Given the description of an element on the screen output the (x, y) to click on. 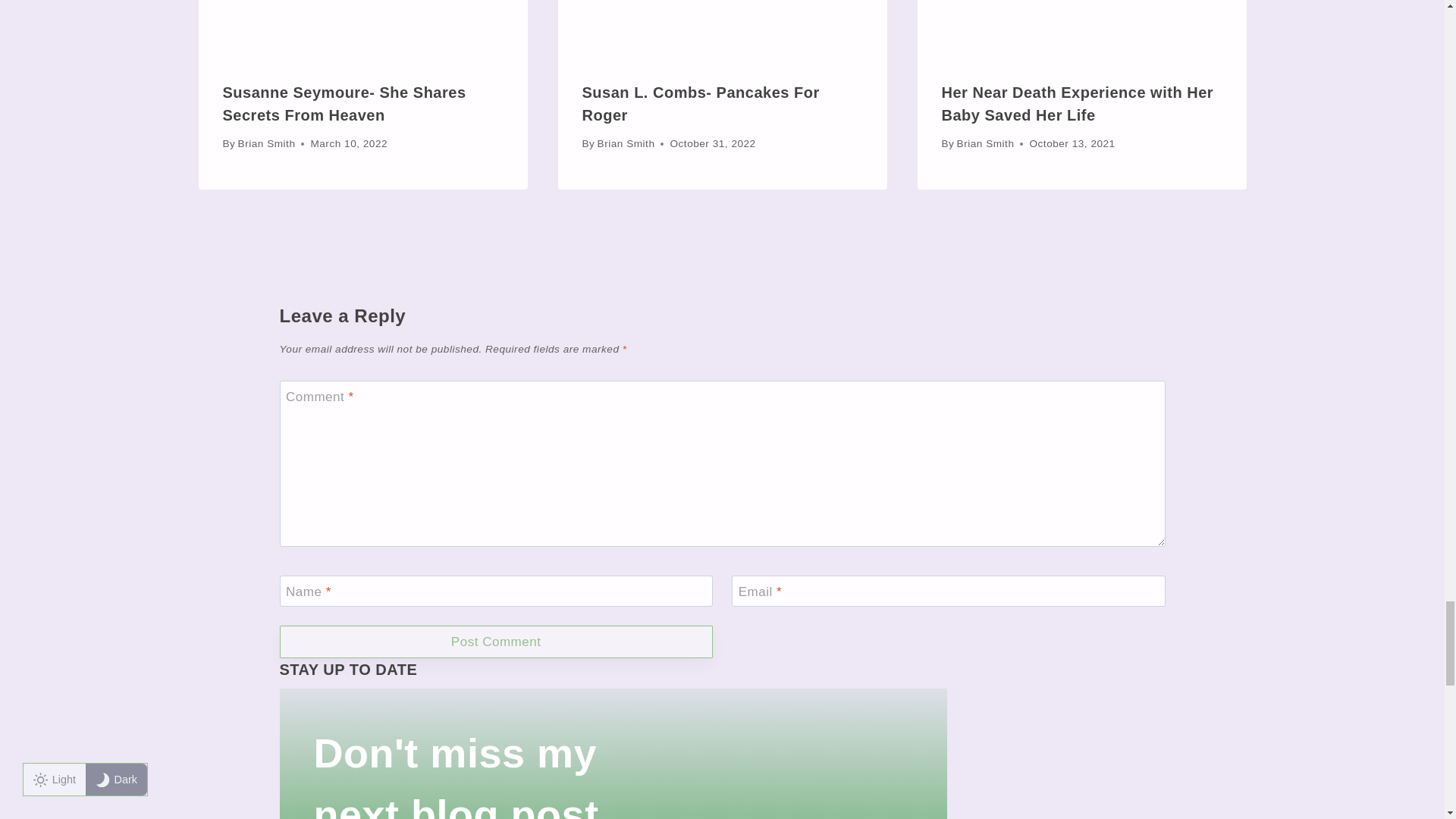
Post Comment (495, 641)
